Given the description of an element on the screen output the (x, y) to click on. 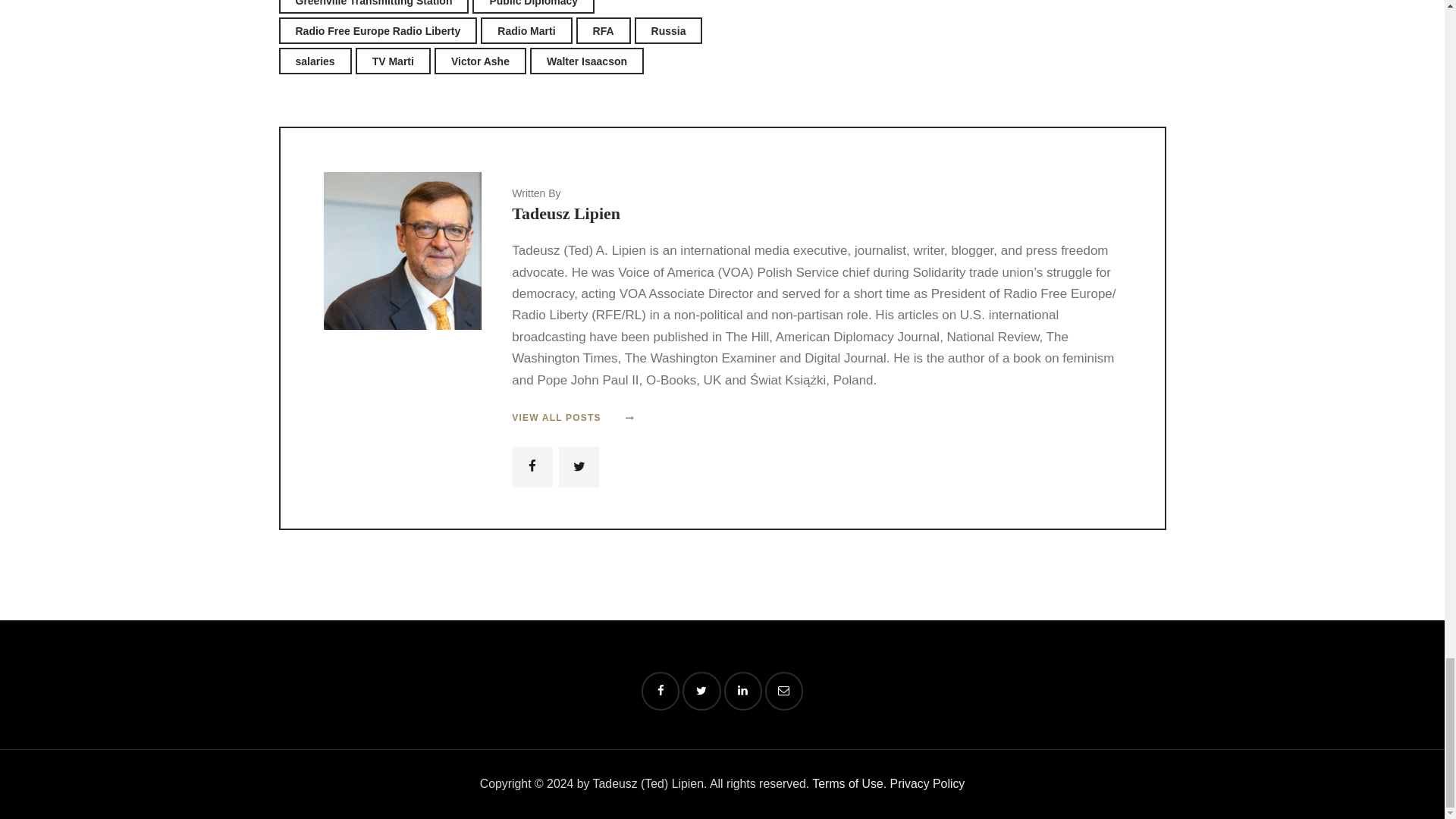
Greenville Transmitting Station (373, 6)
Public Diplomacy (532, 6)
Radio Free Europe Radio Liberty (378, 30)
Walter Isaacson (586, 60)
Russia (668, 30)
RFA (603, 30)
Victor Ashe (479, 60)
Radio Marti (526, 30)
TV Marti (392, 60)
salaries (315, 60)
